Given the description of an element on the screen output the (x, y) to click on. 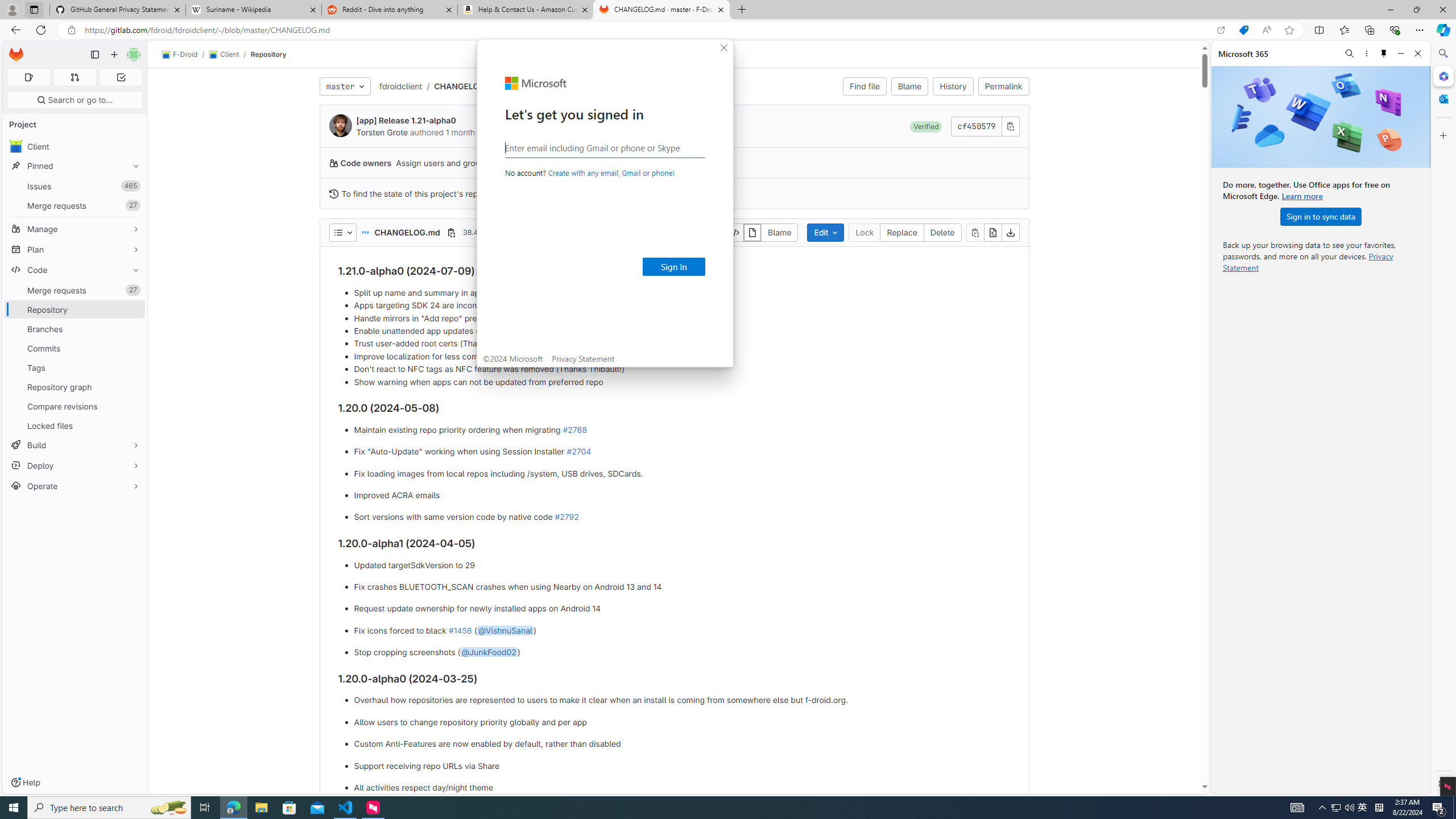
master (344, 85)
avatar (15, 146)
Branches (74, 328)
Open raw (991, 232)
Copy commit SHA (1010, 126)
Help & Contact Us - Amazon Customer Service (525, 9)
Tags (74, 367)
Action Center, 2 new notifications (1439, 807)
Improved ACRA emails (681, 495)
Commits (74, 348)
